Given the description of an element on the screen output the (x, y) to click on. 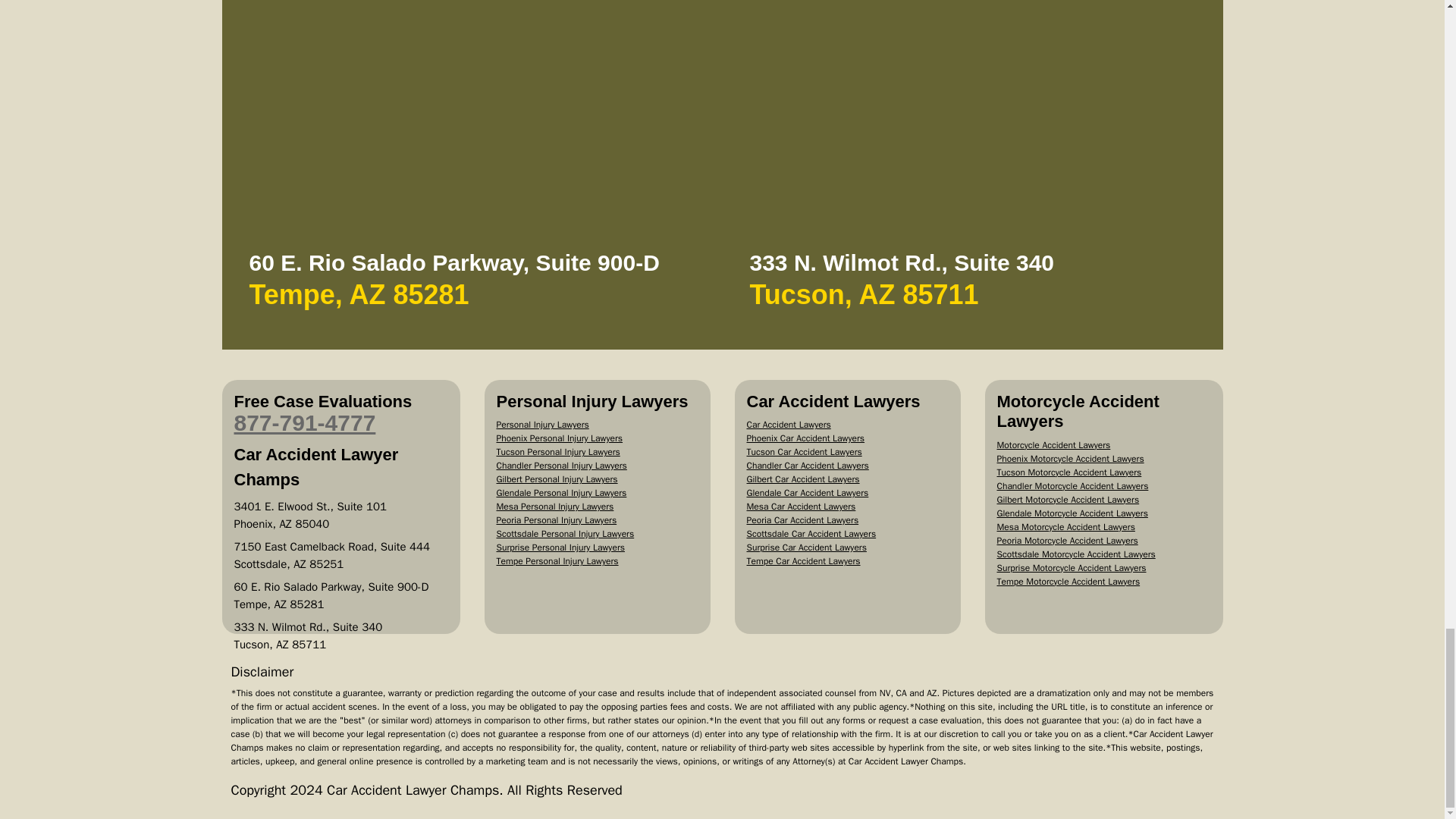
Chandler Personal Injury Lawyers (561, 465)
Gilbert Personal Injury Lawyers (556, 479)
Personal Injury Lawyers (542, 424)
Phoenix Personal Injury Lawyers (559, 438)
Tucson Personal Injury Lawyers (558, 451)
877-791-4777 (303, 422)
